Given the description of an element on the screen output the (x, y) to click on. 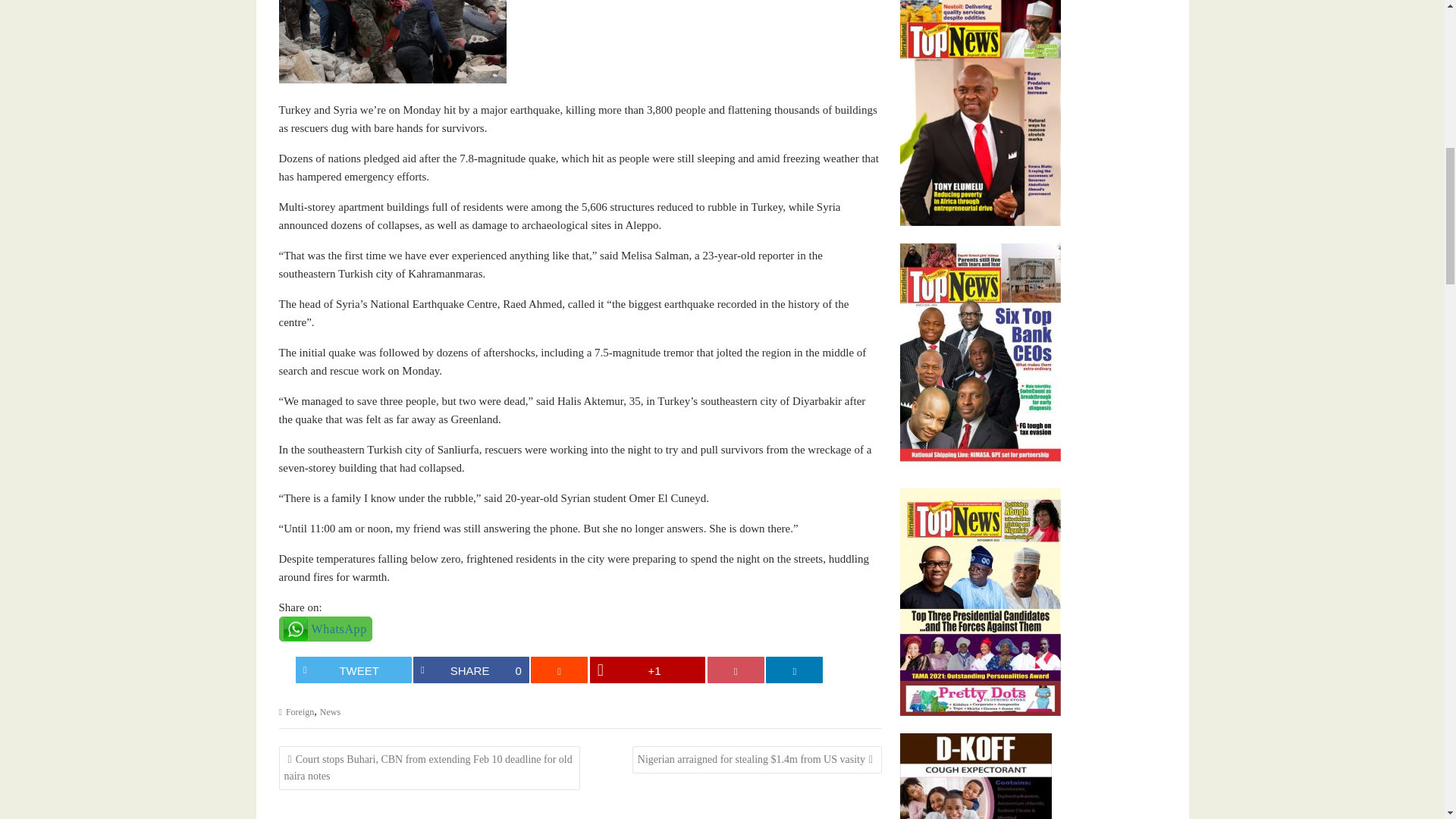
Share on Facebook (471, 669)
Share on Linkedin (793, 669)
WhatsApp (325, 628)
Submit to Reddit (559, 669)
TWEET (353, 669)
Save to read later on Pocket (735, 669)
Tweet on Twitter (353, 669)
